Given the description of an element on the screen output the (x, y) to click on. 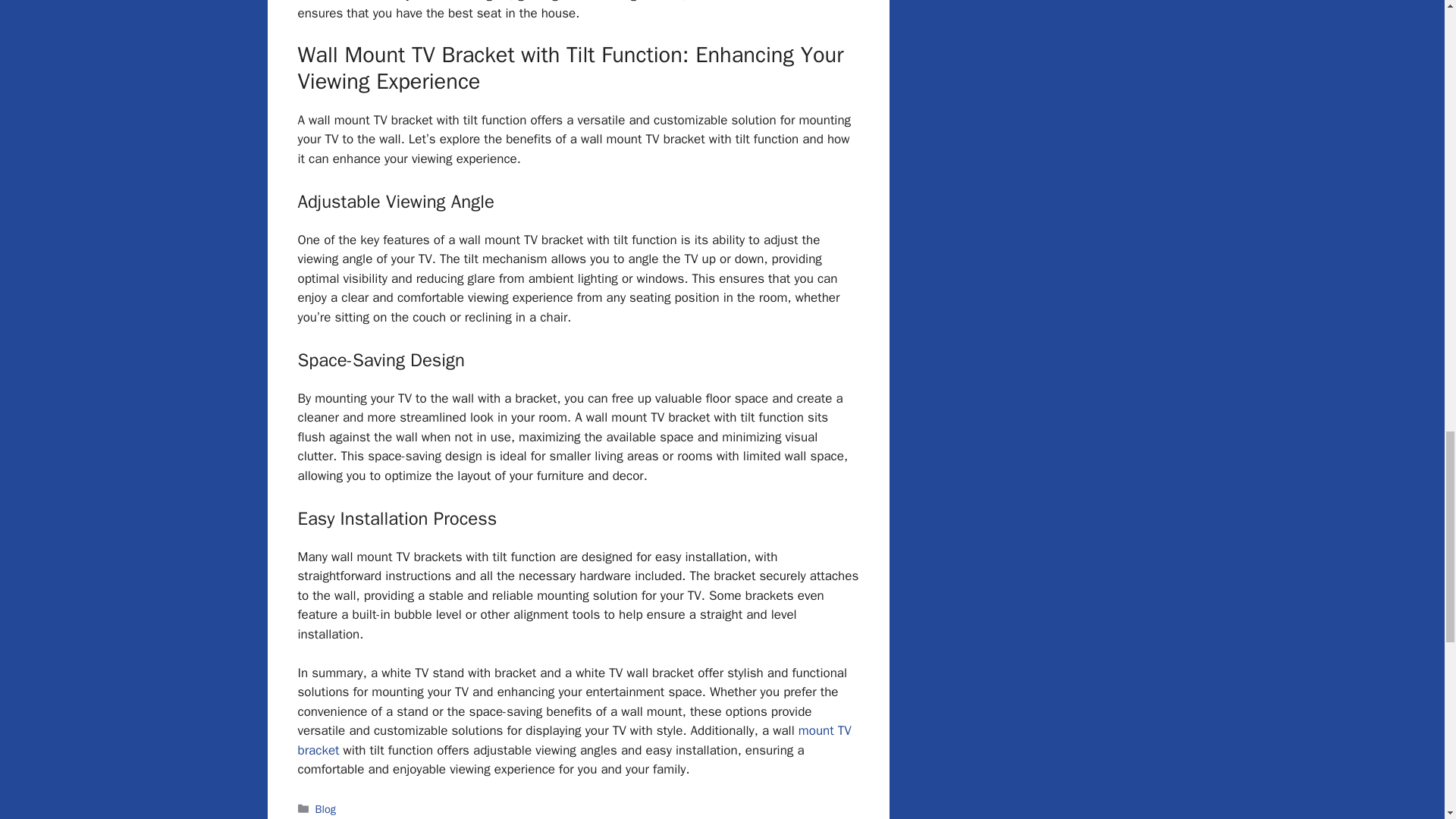
mount TV bracket (573, 740)
Blog (325, 808)
